Given the description of an element on the screen output the (x, y) to click on. 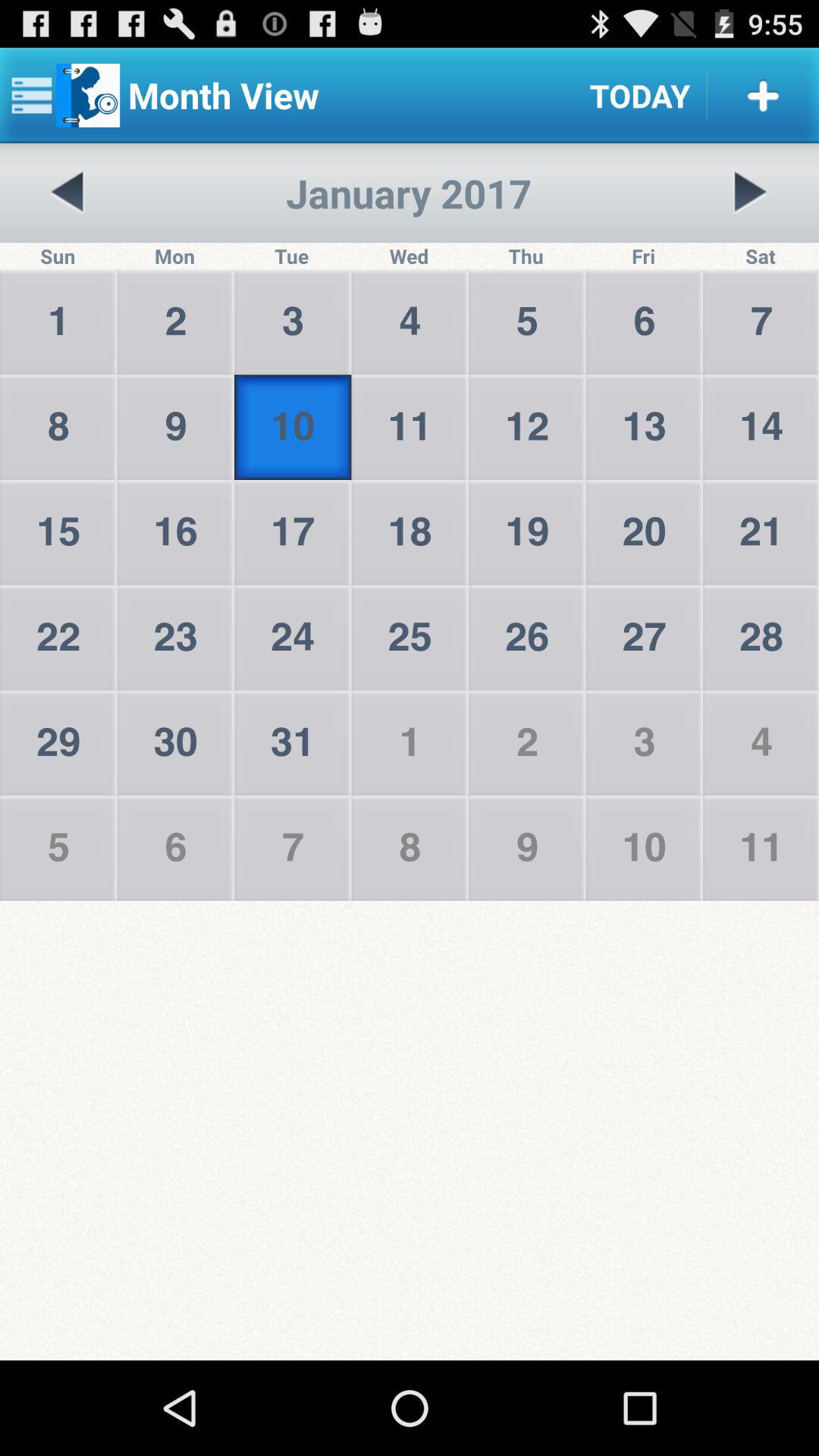
choose the item to the right of today (763, 95)
